Given the description of an element on the screen output the (x, y) to click on. 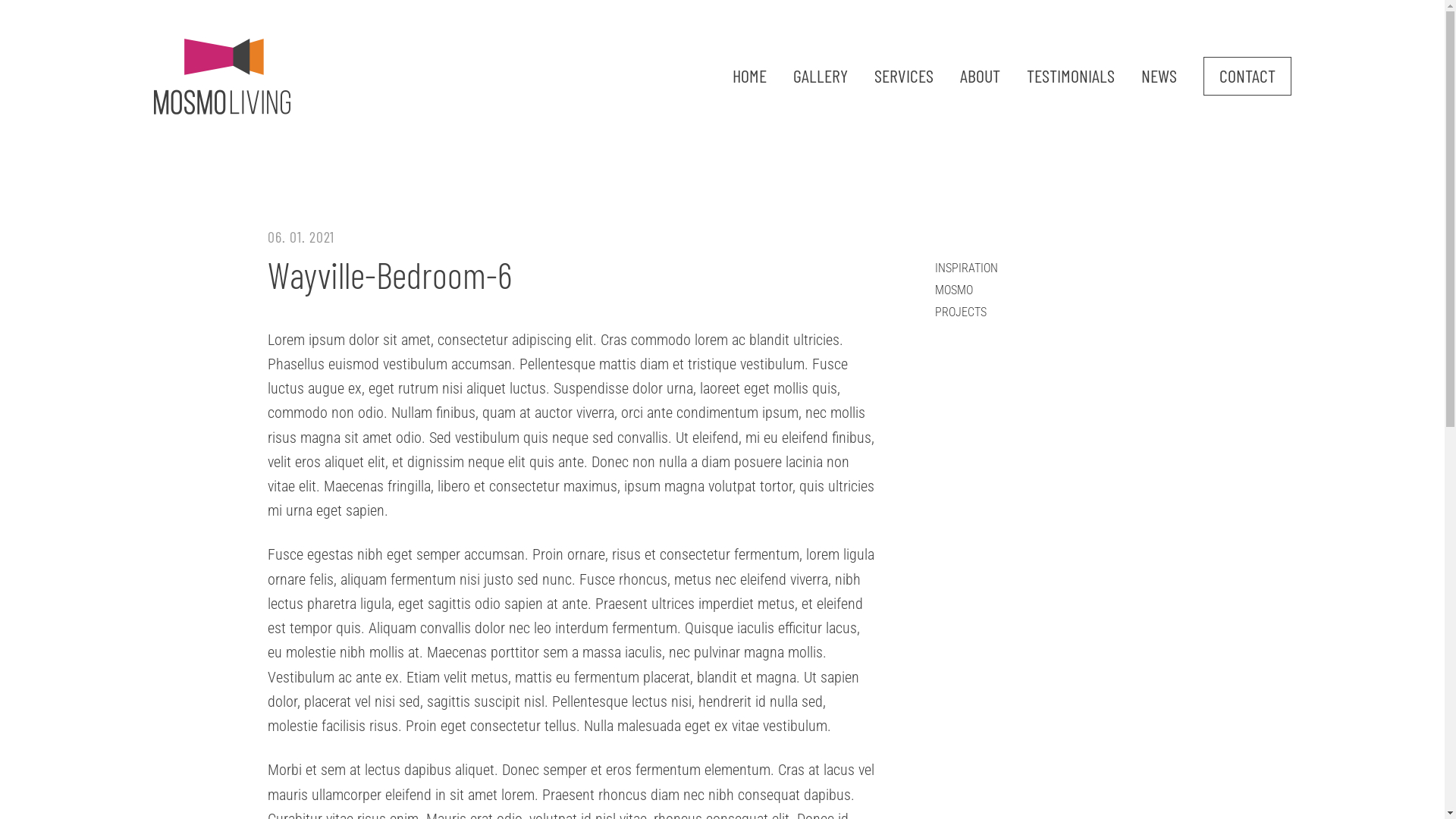
NEWS Element type: text (1158, 83)
ABOUT Element type: text (980, 83)
INSPIRATION Element type: text (965, 267)
CONTACT Element type: text (1246, 83)
GALLERY Element type: text (820, 83)
SERVICES Element type: text (902, 83)
TESTIMONIALS Element type: text (1070, 83)
PROJECTS Element type: text (959, 311)
MOSMO Element type: text (953, 289)
HOME Element type: text (749, 83)
